Given the description of an element on the screen output the (x, y) to click on. 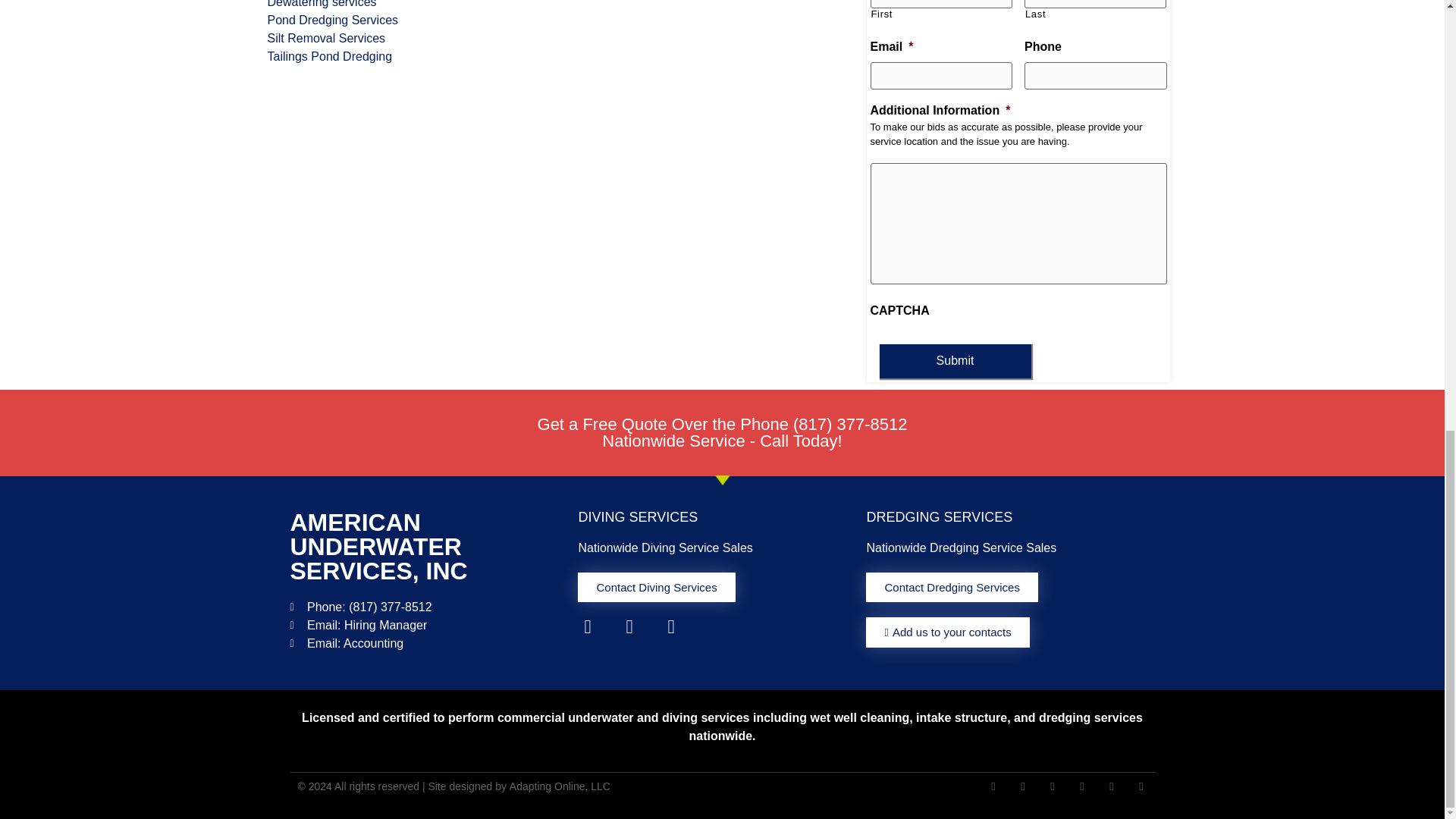
Submit (954, 360)
